Given the description of an element on the screen output the (x, y) to click on. 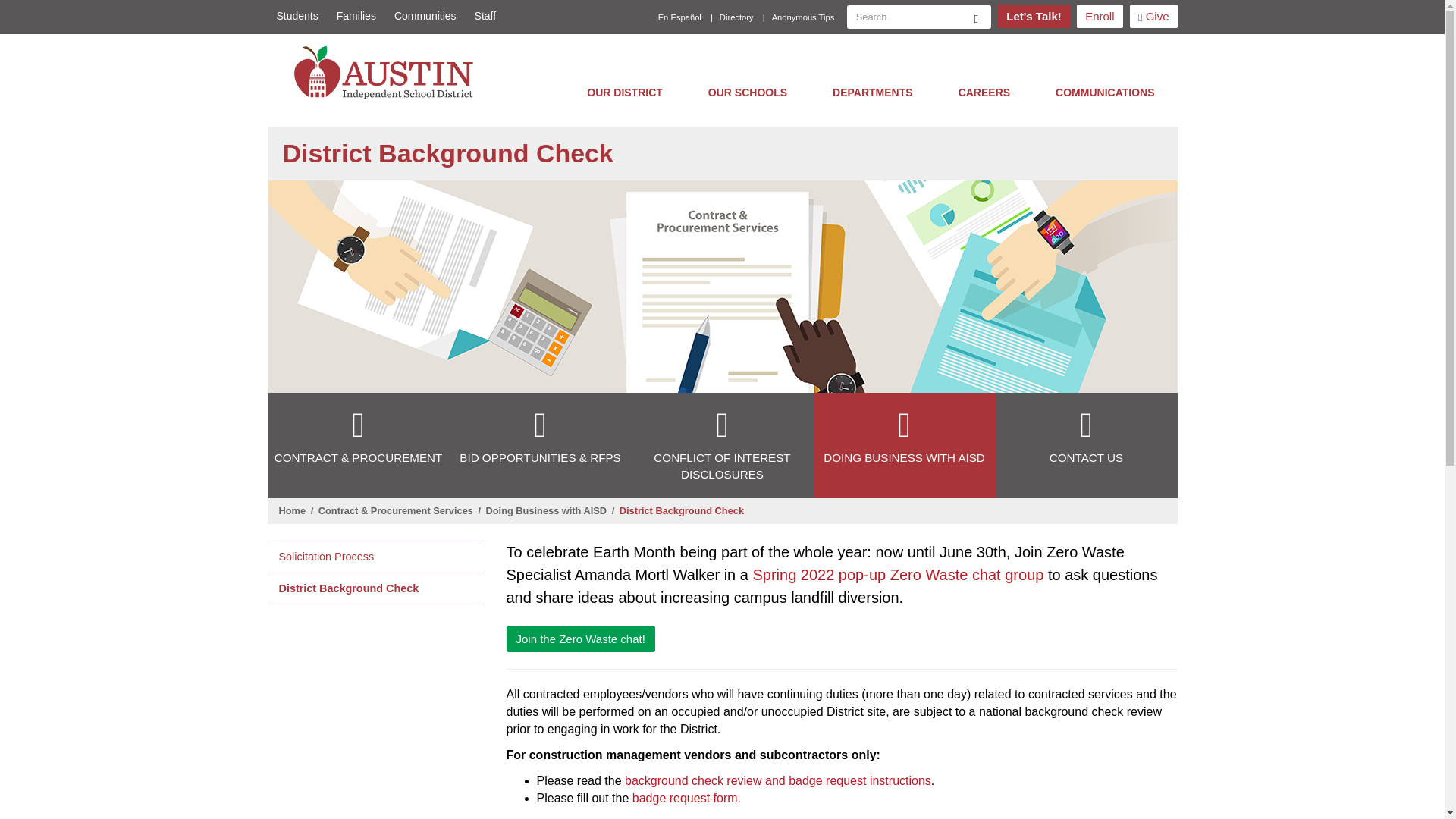
Staff (480, 15)
The Austin Independent School District (387, 72)
Anonymous Tips (803, 17)
OUR SCHOOLS (747, 91)
Home (387, 72)
Search (975, 16)
Students (296, 15)
Submit your questions or feedback! (1032, 15)
Enroll (1099, 15)
Let's Talk! (1032, 15)
Families (356, 15)
DEPARTMENTS (872, 91)
Communities (425, 15)
Directory (736, 17)
